Given the description of an element on the screen output the (x, y) to click on. 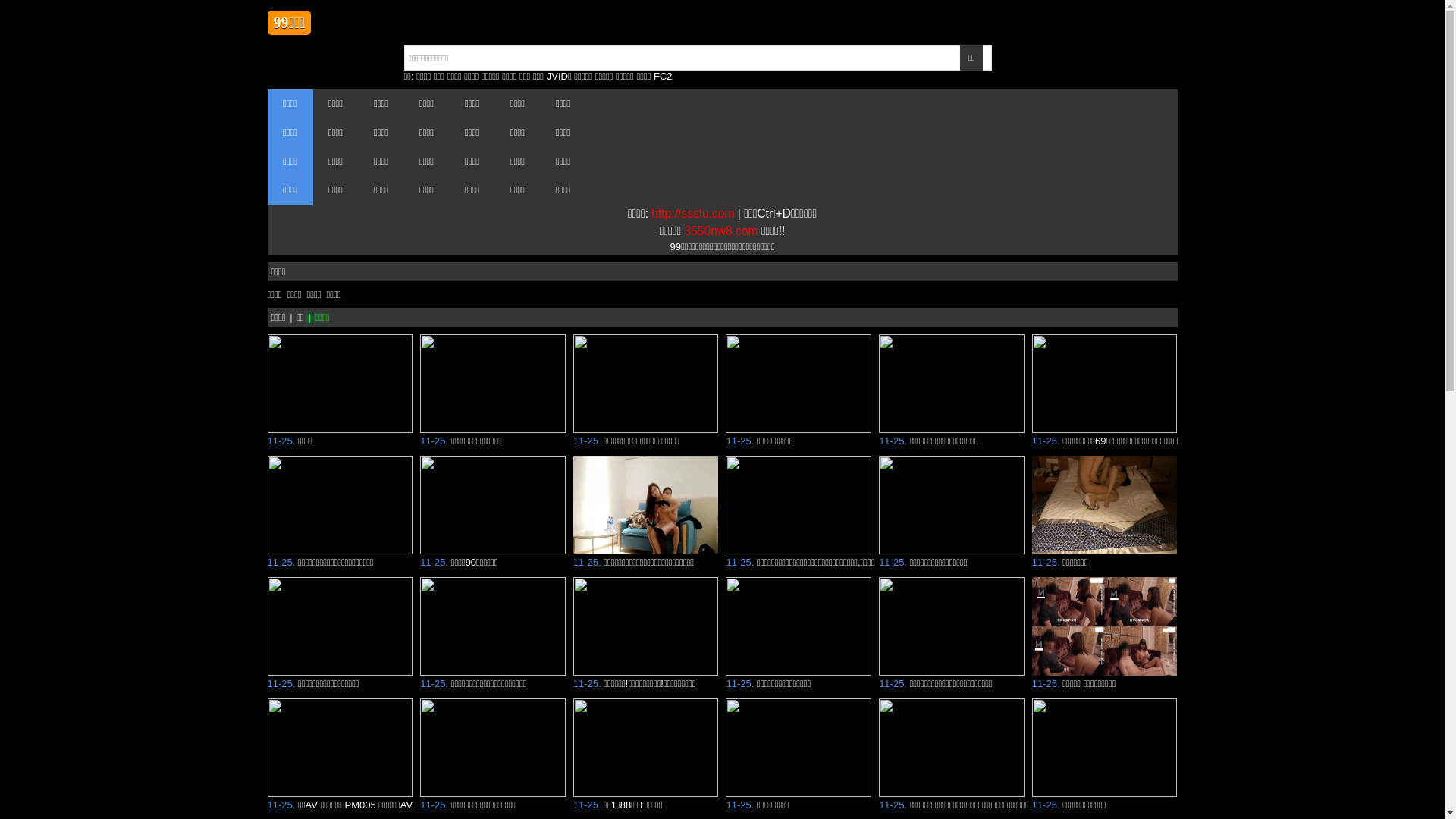
JVID Element type: text (556, 75)
FC2 Element type: text (662, 75)
